Given the description of an element on the screen output the (x, y) to click on. 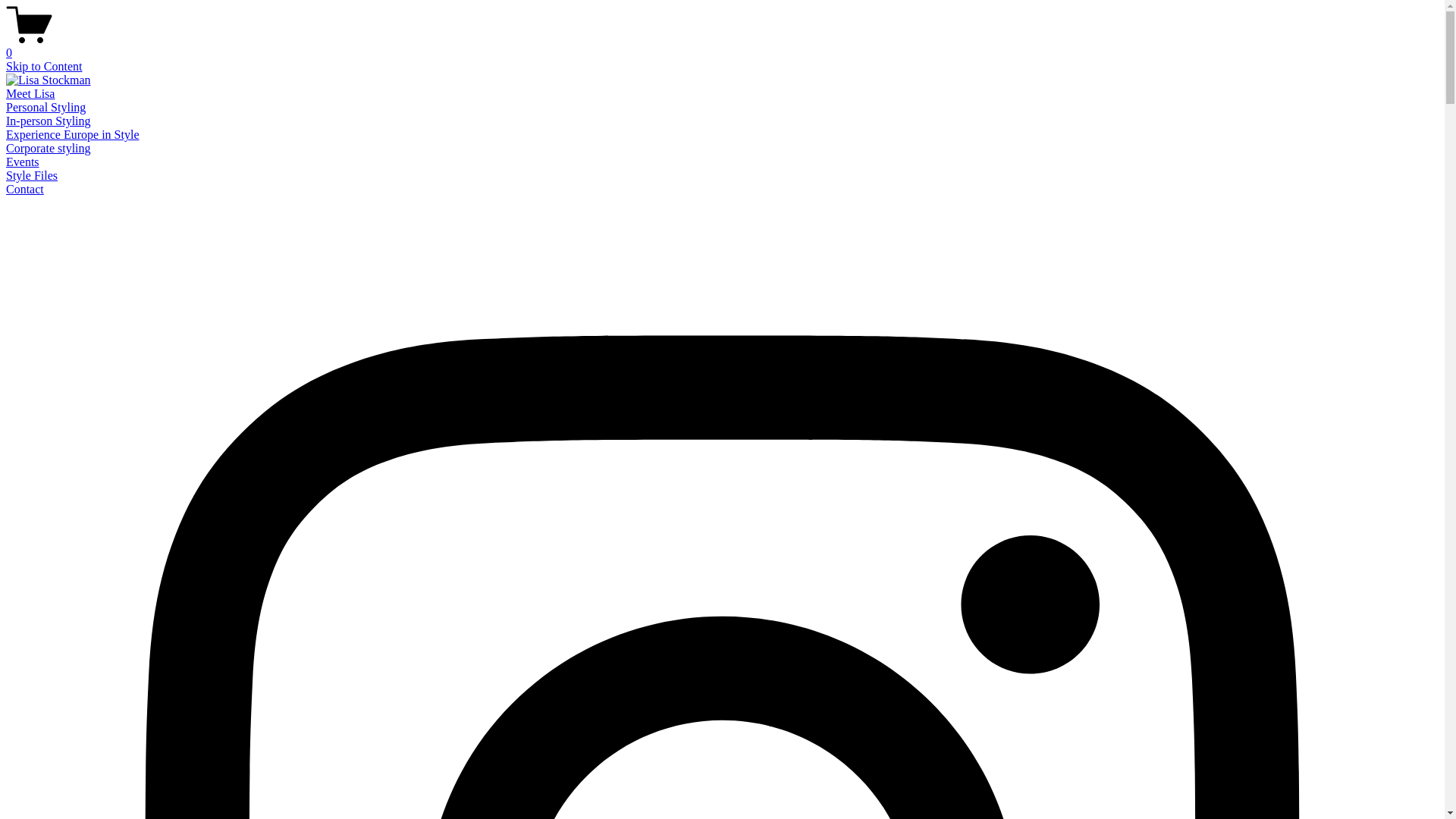
In-person Styling Element type: text (48, 120)
Skip to Content Element type: text (43, 65)
Personal Styling Element type: text (45, 106)
Experience Europe in Style Element type: text (72, 134)
Events Element type: text (22, 161)
Corporate styling Element type: text (48, 147)
Meet Lisa Element type: text (30, 93)
0 Element type: text (722, 45)
Style Files Element type: text (31, 175)
Contact Element type: text (24, 188)
